Given the description of an element on the screen output the (x, y) to click on. 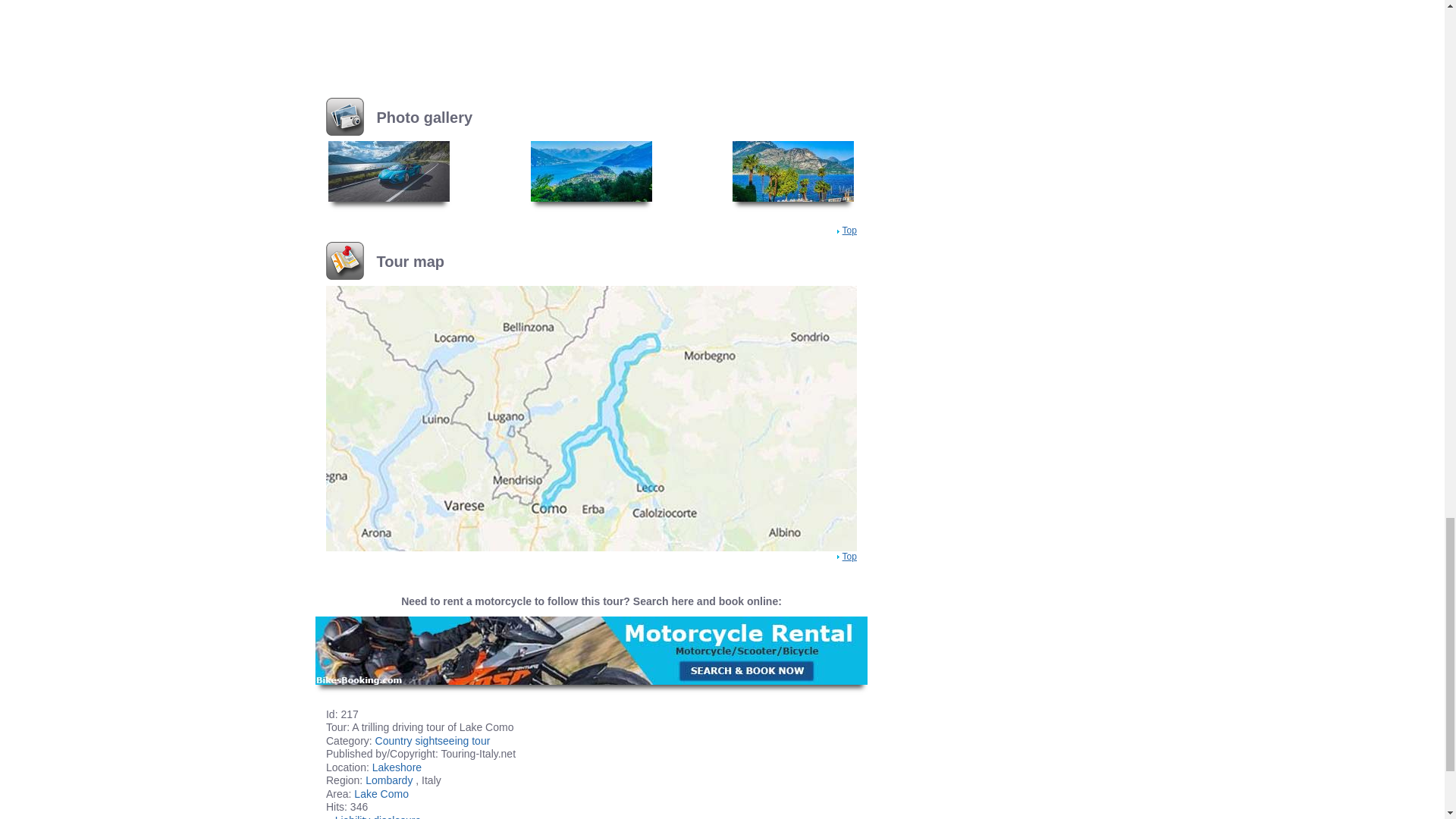
Liability disclosure (378, 816)
Lake Como (381, 793)
Top (850, 230)
Tour in Italy: A trilling driving tour of Lake Como - Pic 1 (389, 170)
Country sightseeing tour (432, 740)
Lakeshore (397, 767)
Top (850, 556)
Advertisement (590, 25)
Lombardy (388, 779)
Tour in Italy: A trilling driving tour of Lake Como - Pic 3 (792, 170)
